Given the description of an element on the screen output the (x, y) to click on. 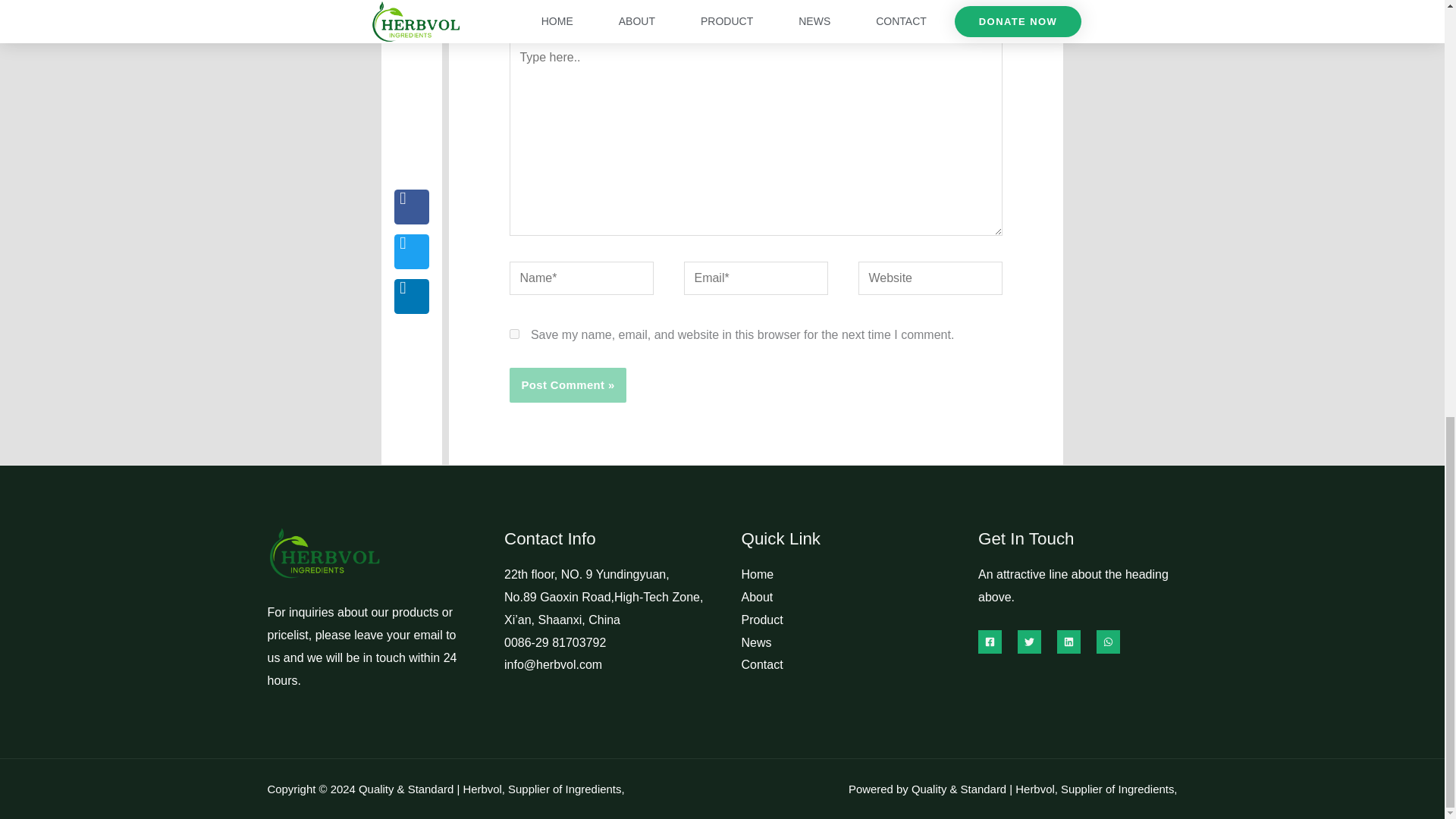
News (756, 642)
yes (514, 334)
Home (757, 574)
Contact (762, 664)
About (757, 596)
Product (762, 619)
